Given the description of an element on the screen output the (x, y) to click on. 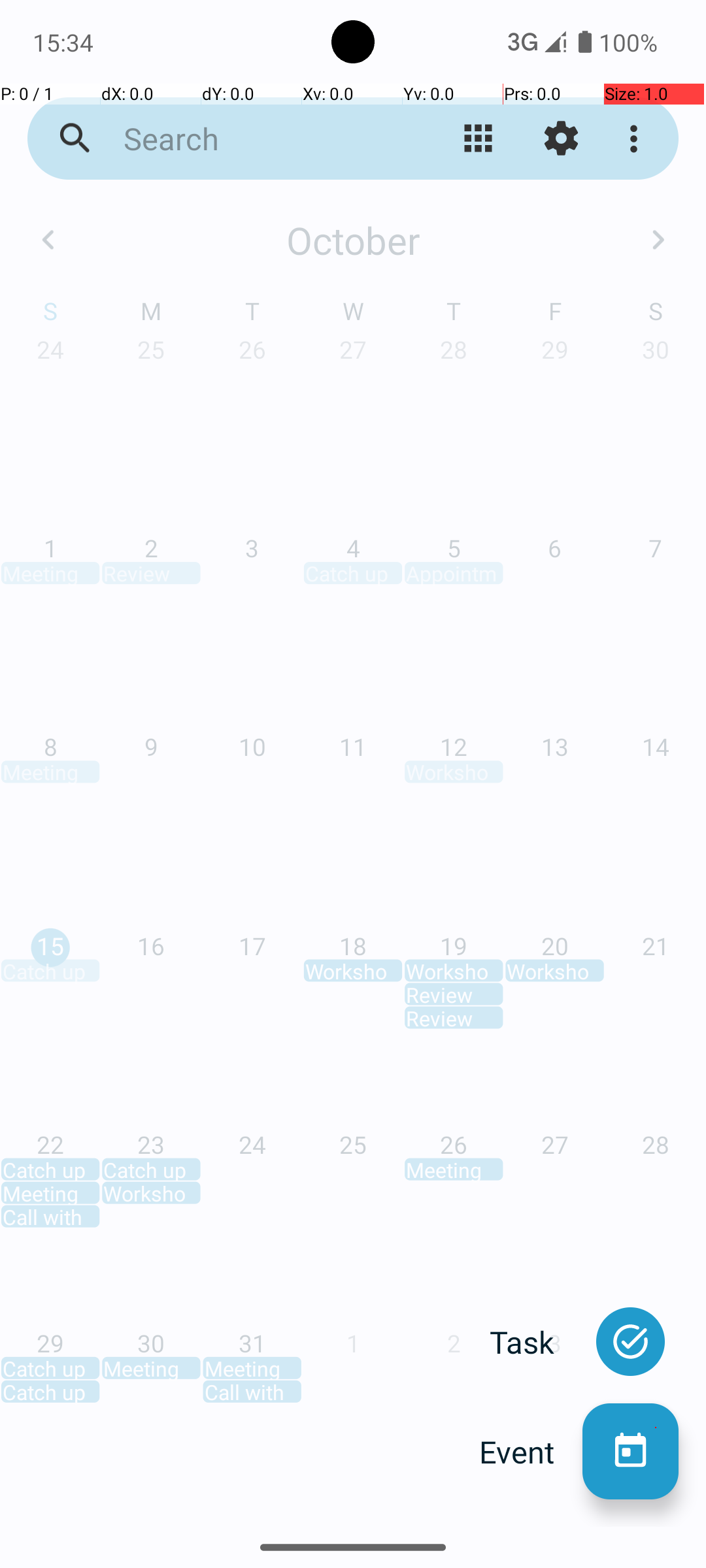
Task Element type: android.widget.TextView (535, 1341)
Event Element type: android.widget.TextView (530, 1451)
